Given the description of an element on the screen output the (x, y) to click on. 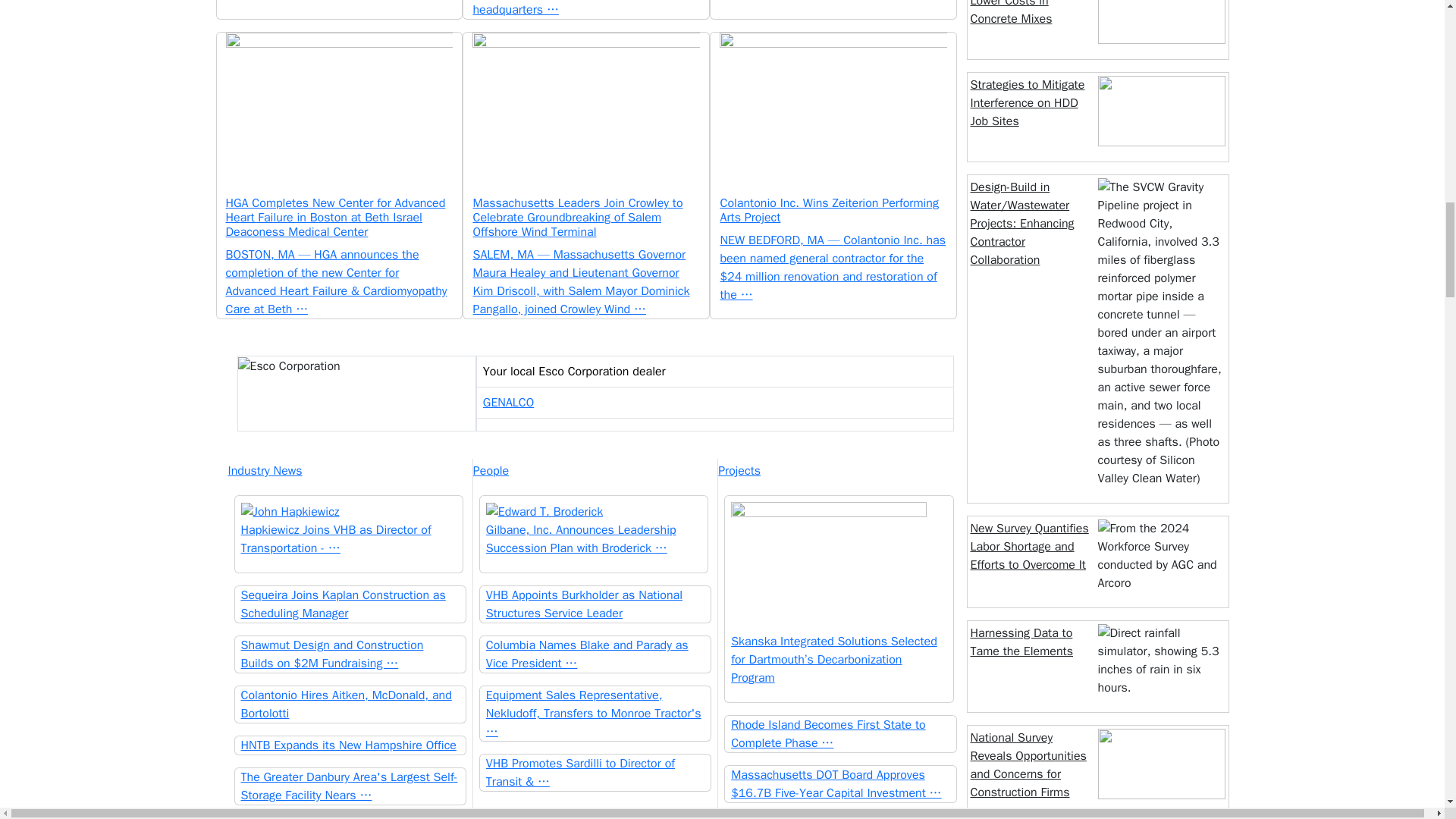
Sequeira Joins Kaplan Construction as Scheduling Manager (350, 604)
Industry News (349, 470)
Colantonio Hires Aitken, McDonald, and Bortolotti (350, 704)
GENALCO (508, 402)
HNTB Expands its New Hampshire Office (350, 745)
